Given the description of an element on the screen output the (x, y) to click on. 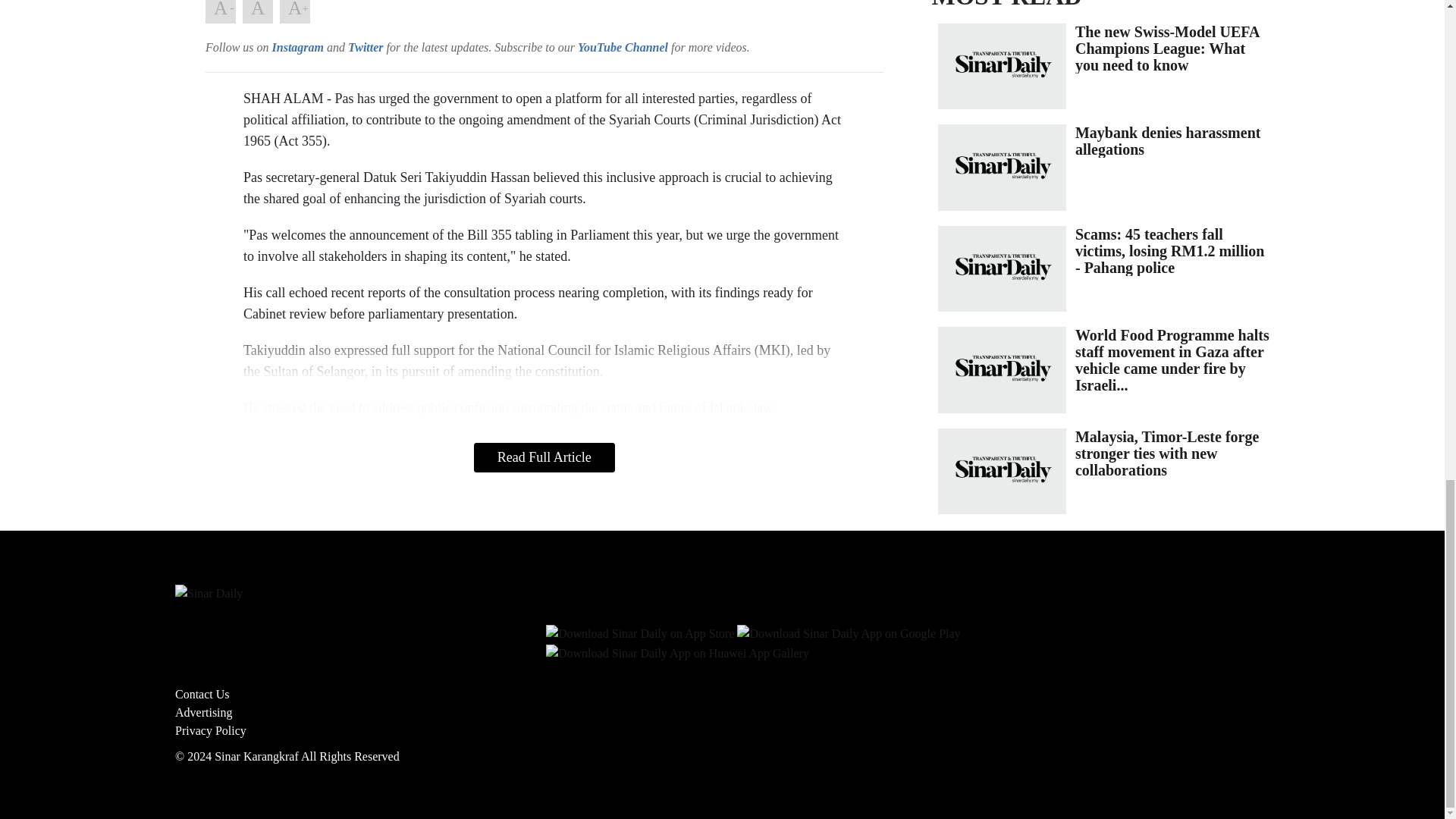
Teks Kecil (220, 11)
Teks Asal (258, 11)
Teks Besar (294, 11)
